Given the description of an element on the screen output the (x, y) to click on. 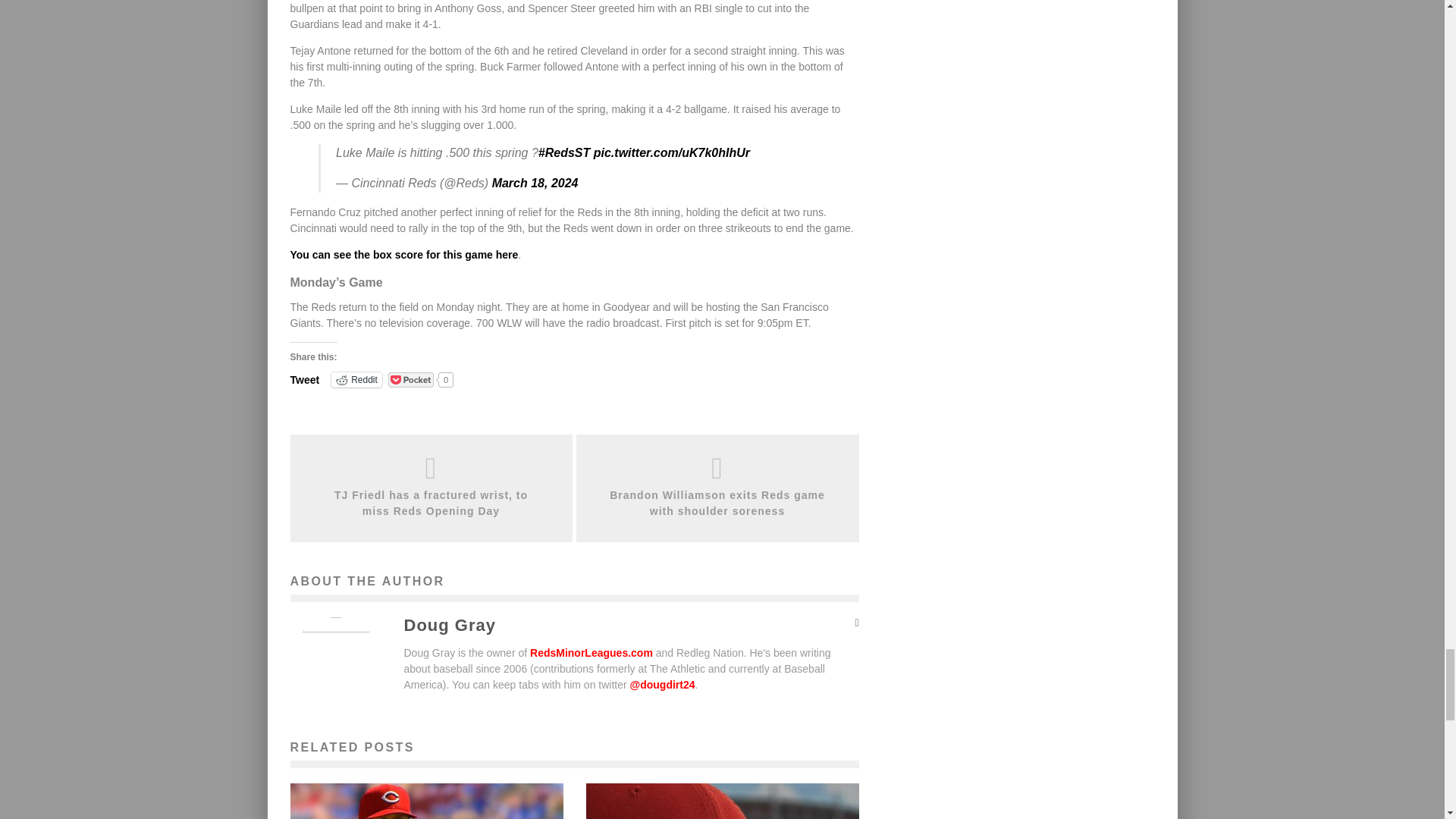
You can see the box score for this game here (403, 254)
Click to share on Reddit (356, 379)
March 18, 2024 (535, 182)
